Given the description of an element on the screen output the (x, y) to click on. 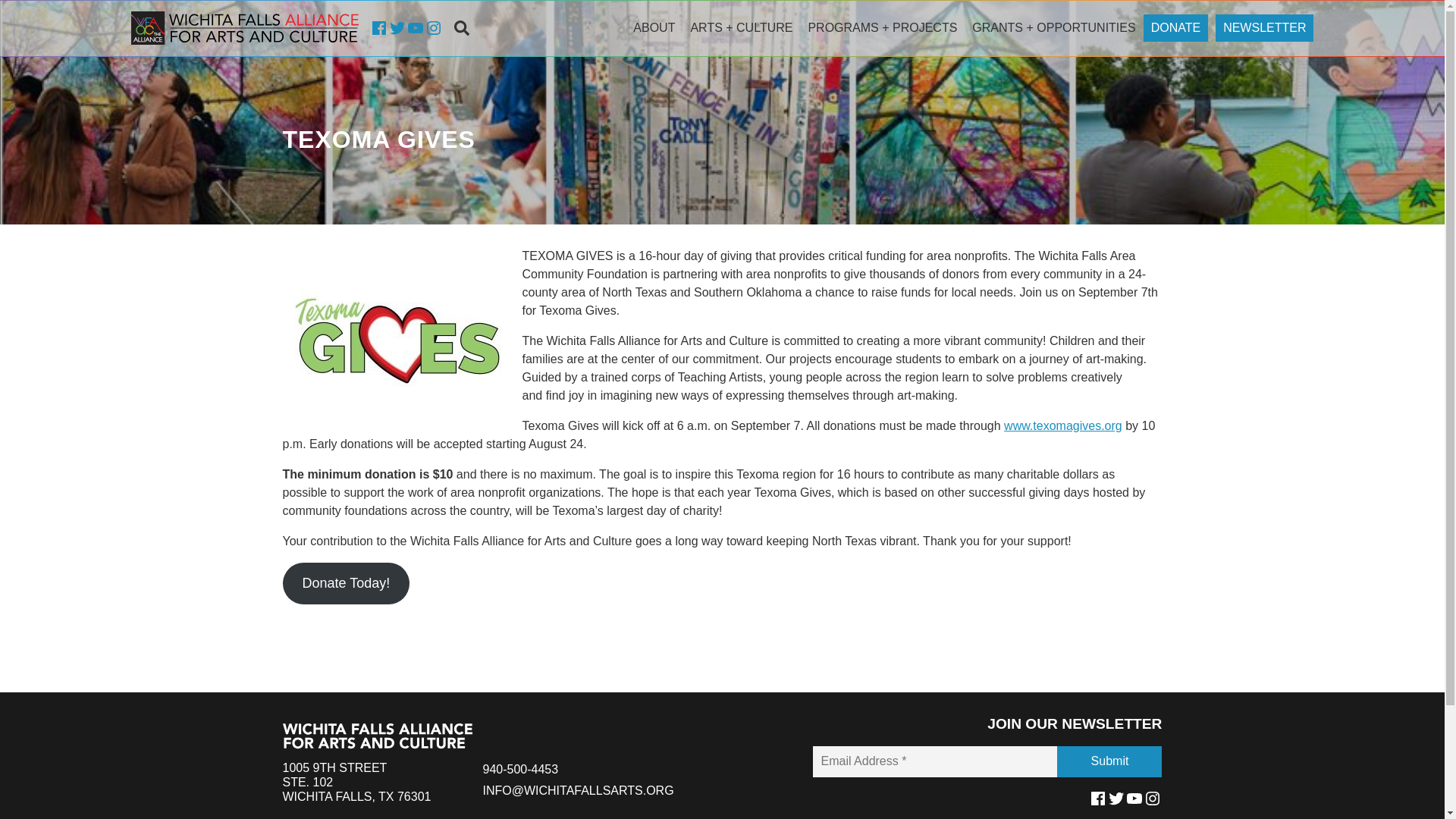
Submit (1109, 761)
Get Directions (356, 782)
ABOUT (654, 27)
DONATE (1175, 27)
Newsletter (1264, 27)
Grants (1052, 27)
Calendar (740, 27)
Go (1129, 94)
Programs (881, 27)
Donate Today! (345, 583)
www.texomagives.org (1063, 425)
Wichita Falls Alliance for Arts and Culture (356, 782)
Donate (244, 28)
NEWSLETTER (1175, 27)
